Given the description of an element on the screen output the (x, y) to click on. 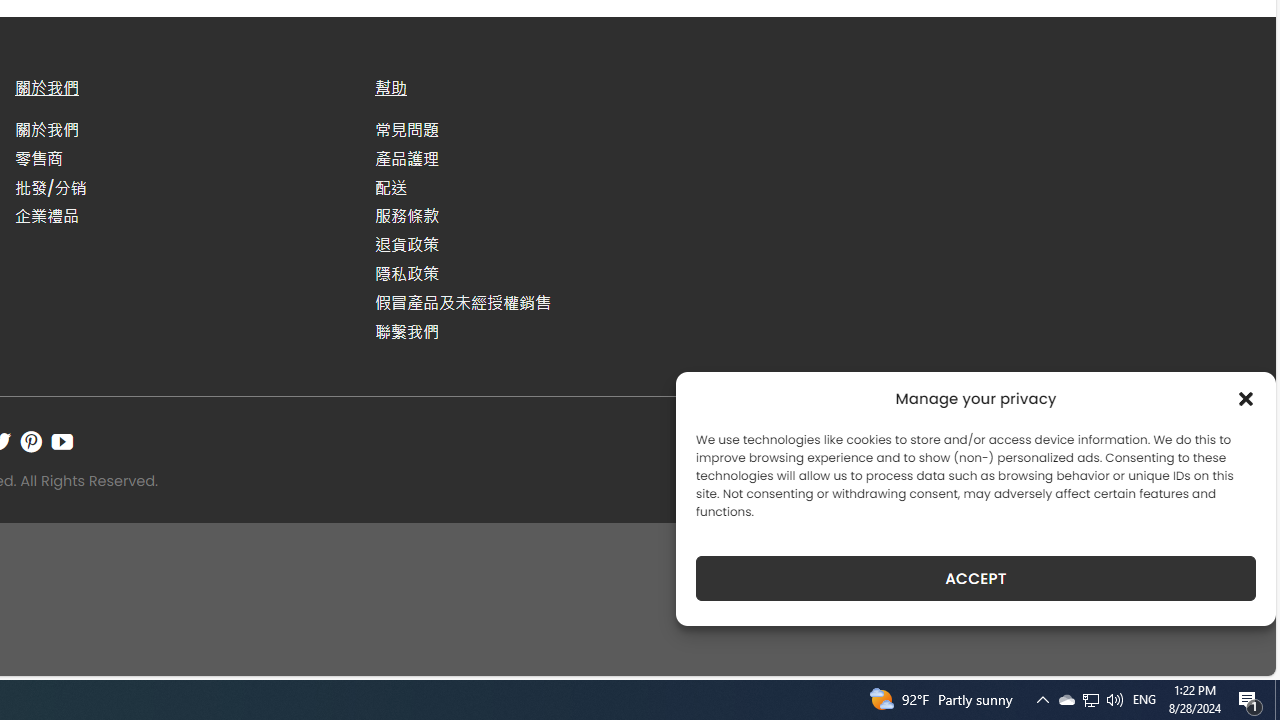
Follow on Pinterest (31, 441)
Follow on YouTube (61, 441)
Go to top (1234, 647)
